Given the description of an element on the screen output the (x, y) to click on. 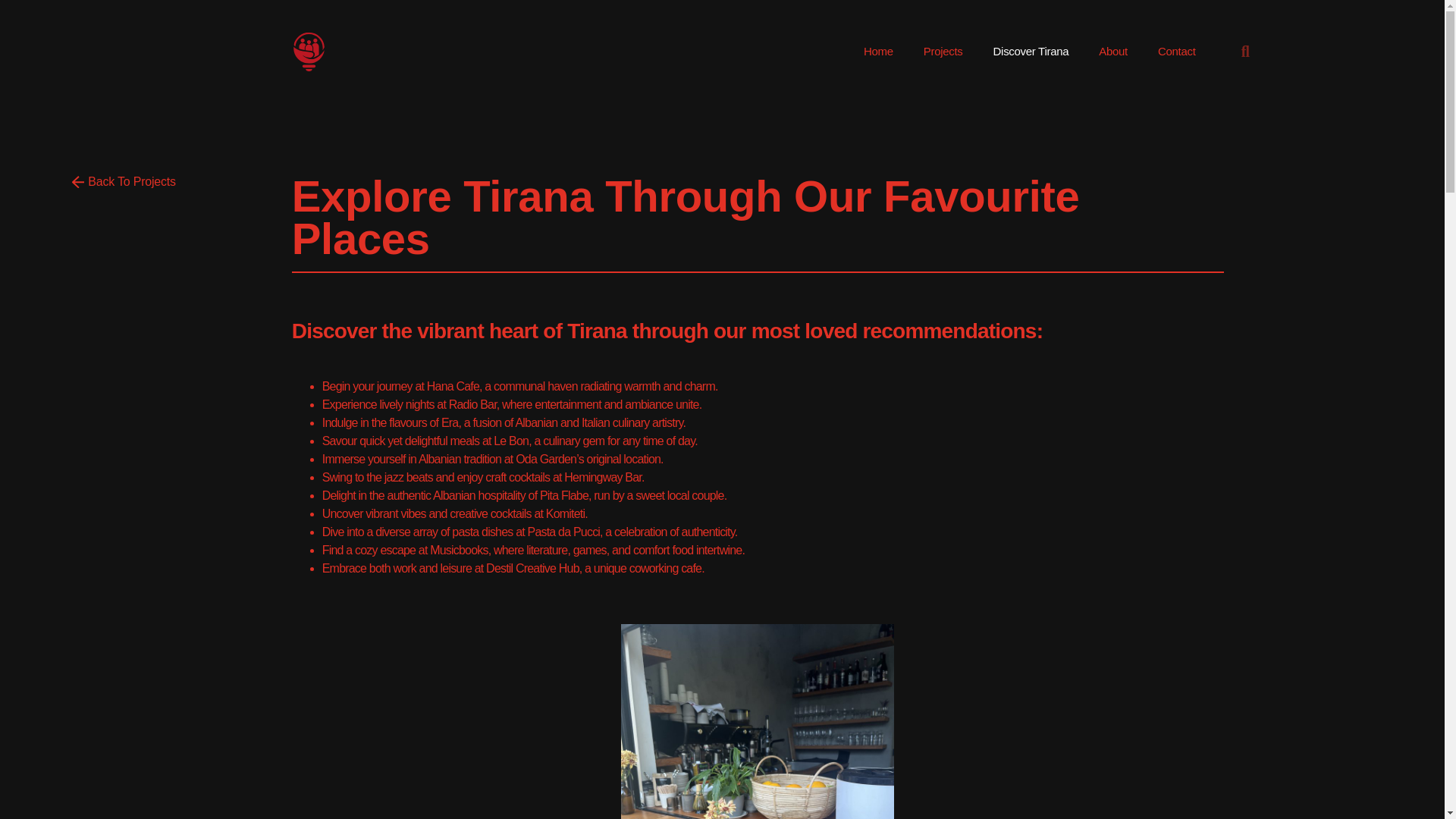
Discover Tirana (1031, 51)
Back To Projects (123, 183)
